Given the description of an element on the screen output the (x, y) to click on. 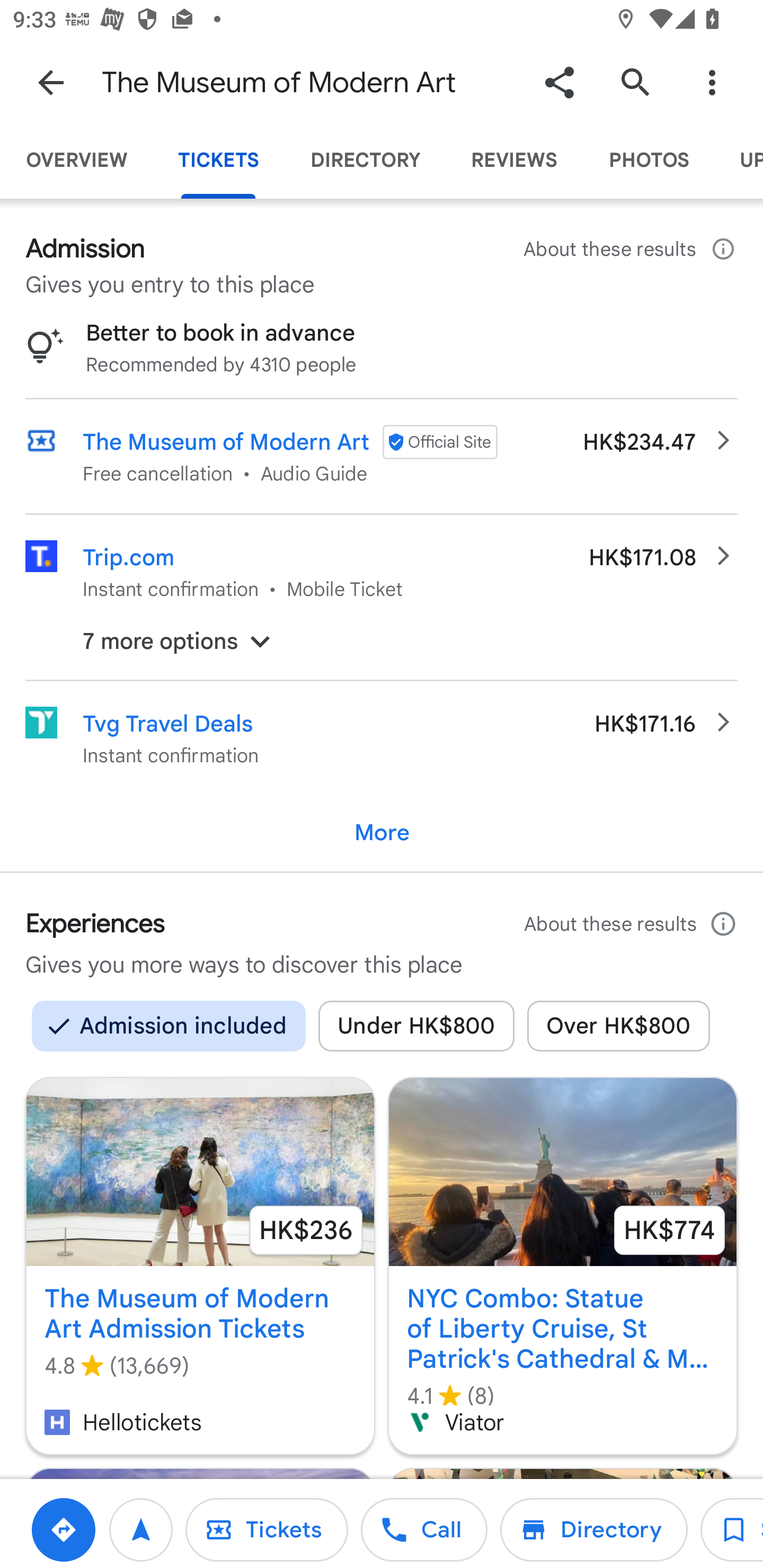
Back to Search (50, 81)
Share (559, 81)
Search (635, 81)
More options for The Museum of Modern Art (711, 81)
OVERVIEW Overview (76, 160)
DIRECTORY Directory (364, 160)
REVIEWS Reviews (513, 160)
PHOTOS Photos (648, 160)
About these results (630, 249)
7 more options (381, 640)
Tvg Travel Deals HK$171.16 Instant confirmation (381, 737)
More (381, 832)
About these results (630, 923)
Under HK$800 Under HK$800 Under HK$800 (416, 1025)
Over HK$800 Over HK$800 Over HK$800 (618, 1025)
Start (141, 1529)
Tickets (266, 1529)
Directory Directory Directory (593, 1529)
